Given the description of an element on the screen output the (x, y) to click on. 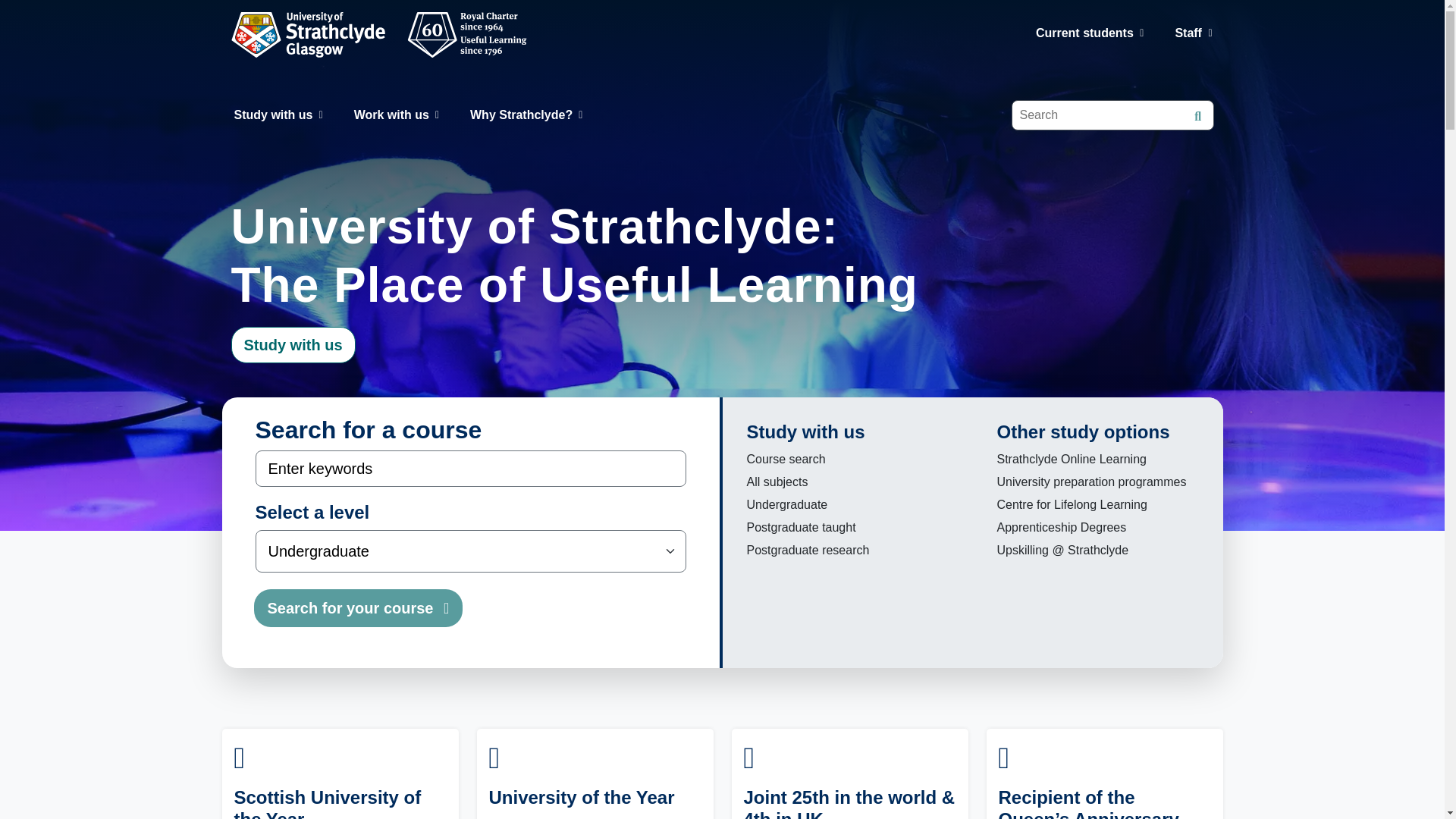
Why Strathclyde? (526, 114)
Work with us (396, 114)
Current students (1089, 32)
Study with us (278, 114)
